Given the description of an element on the screen output the (x, y) to click on. 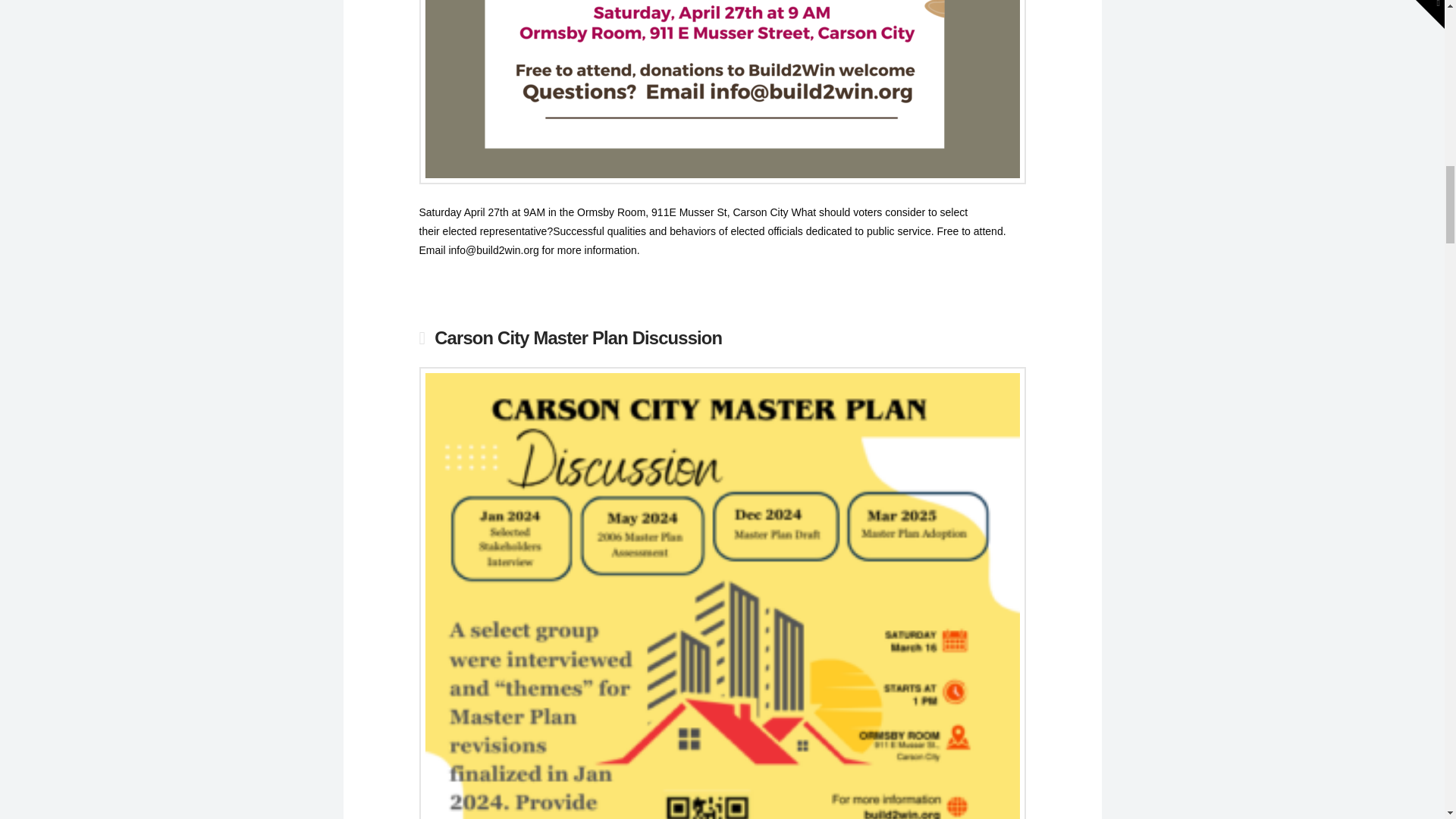
Carson City Master Plan Discussion (577, 337)
Permalink to: "Carson City Master Plan Discussion" (577, 337)
